Given the description of an element on the screen output the (x, y) to click on. 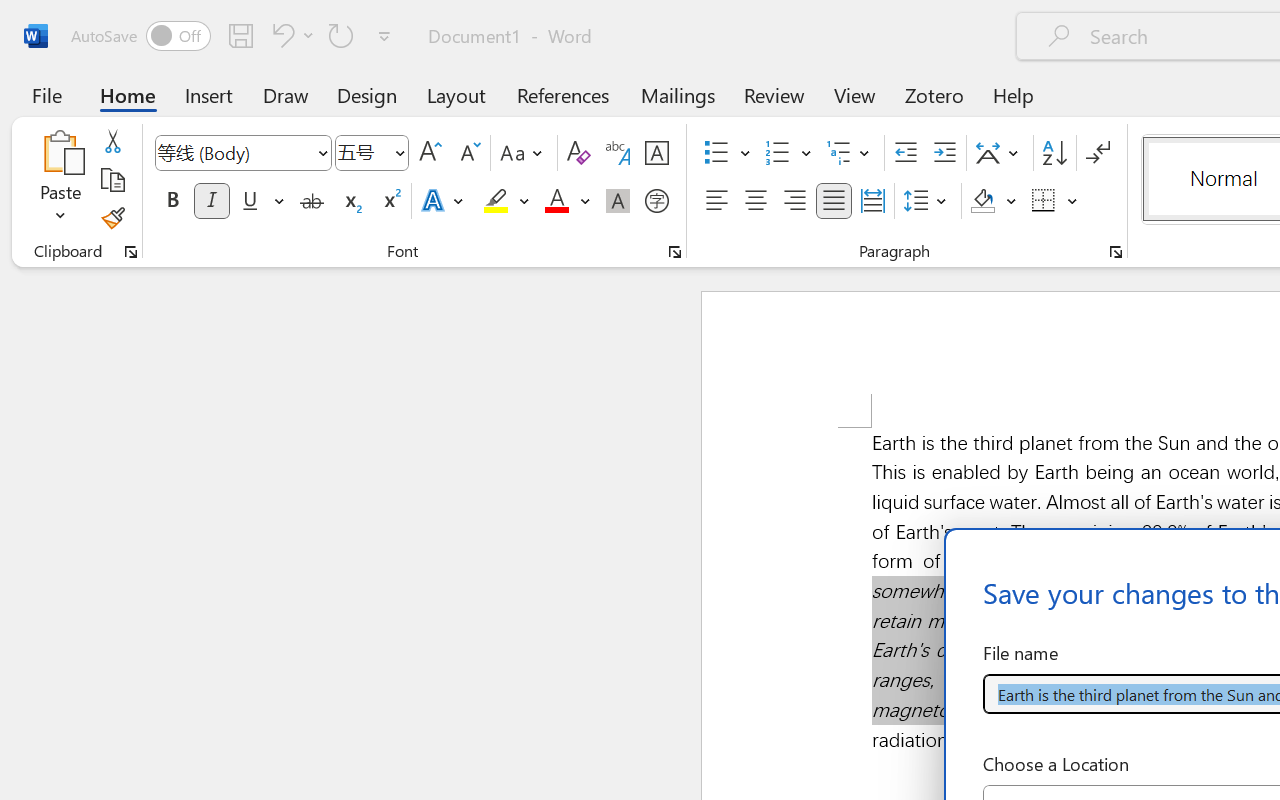
Cut (112, 141)
Paragraph... (1115, 252)
Center (756, 201)
Distributed (872, 201)
Repeat Italic (341, 35)
Bold (172, 201)
Undo Italic (280, 35)
Line and Paragraph Spacing (927, 201)
Help (1013, 94)
